Given the description of an element on the screen output the (x, y) to click on. 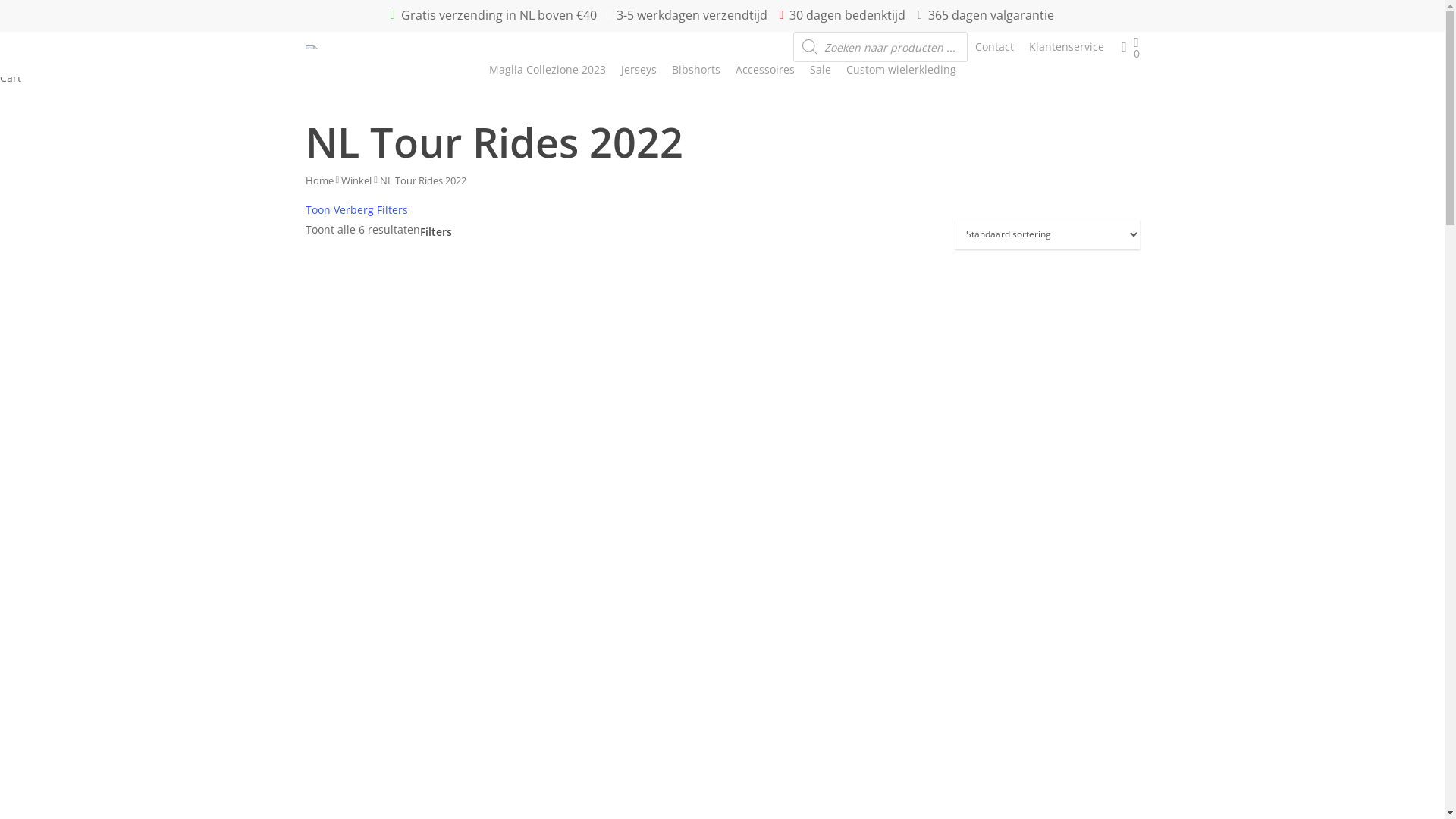
Contact Element type: text (994, 46)
Maglia Collezione 2023 Element type: text (546, 69)
Winkel Element type: text (356, 180)
Bibshorts Element type: text (695, 69)
Toon Verberg Filters Element type: text (355, 209)
Jerseys Element type: text (637, 69)
Accessoires Element type: text (764, 69)
Klantenservice Element type: text (1065, 46)
account Element type: text (1123, 46)
Custom wielerkleding Element type: text (901, 69)
0 Element type: text (1135, 46)
Home Element type: text (318, 180)
Sale Element type: text (820, 69)
